Given the description of an element on the screen output the (x, y) to click on. 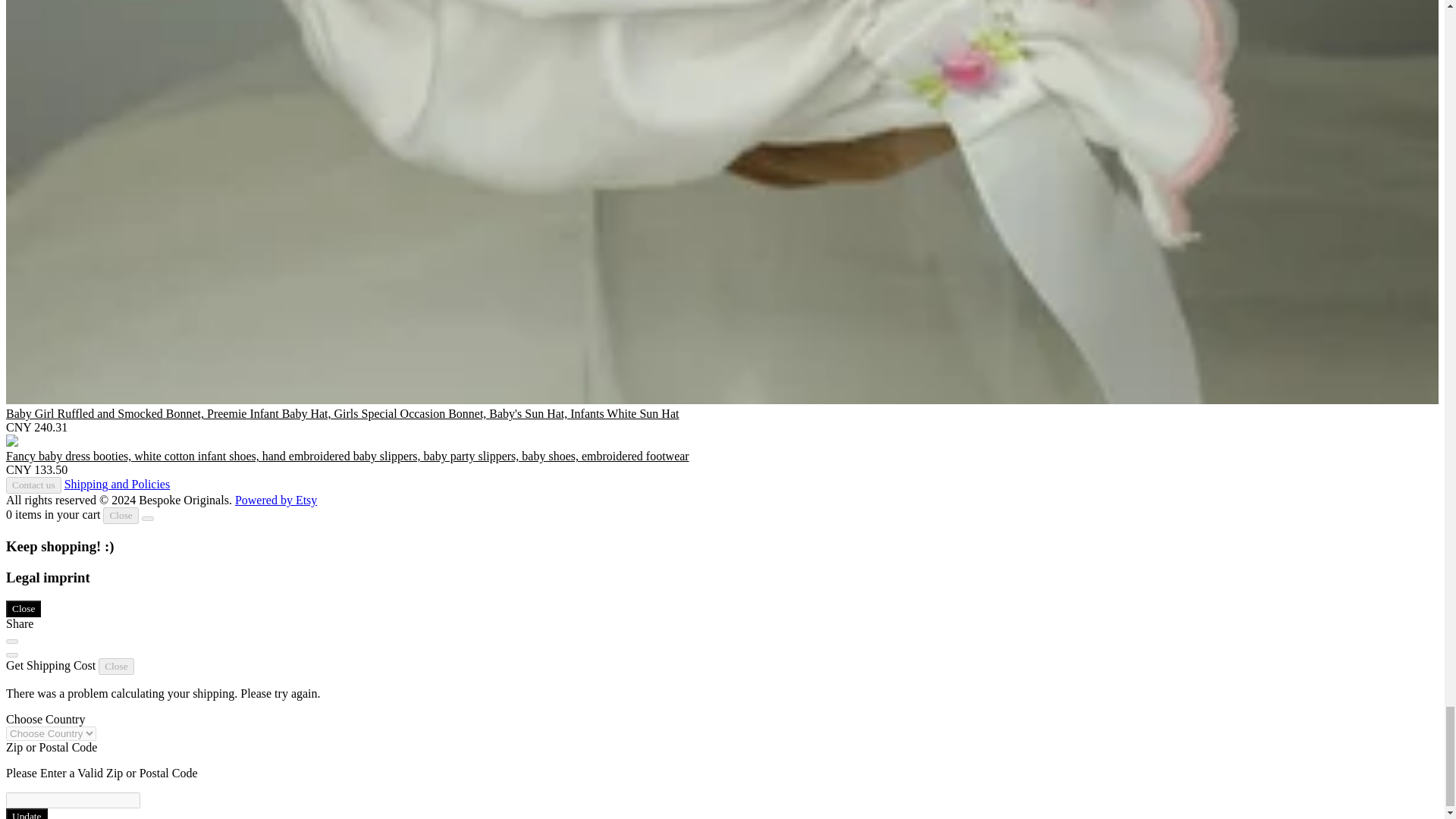
Close (22, 608)
Close (116, 666)
Close (120, 515)
Powered by Etsy (275, 499)
Contact us (33, 484)
Shipping and Policies (117, 483)
